Given the description of an element on the screen output the (x, y) to click on. 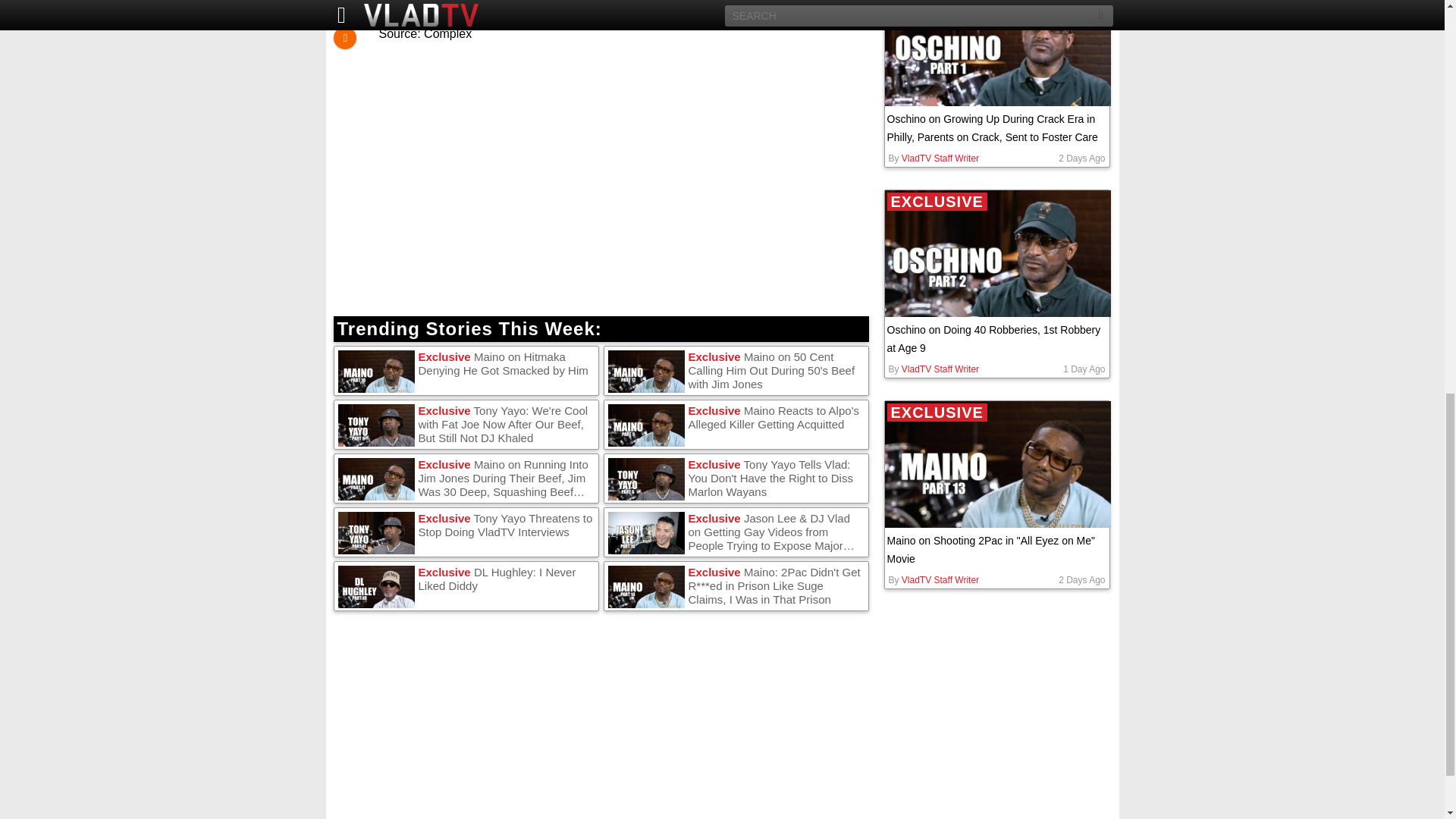
Exclusive DL Hughley: I Never Liked Diddy (465, 585)
Exclusive Maino on Hitmaka Denying He Got Smacked by Him (465, 370)
